Given the description of an element on the screen output the (x, y) to click on. 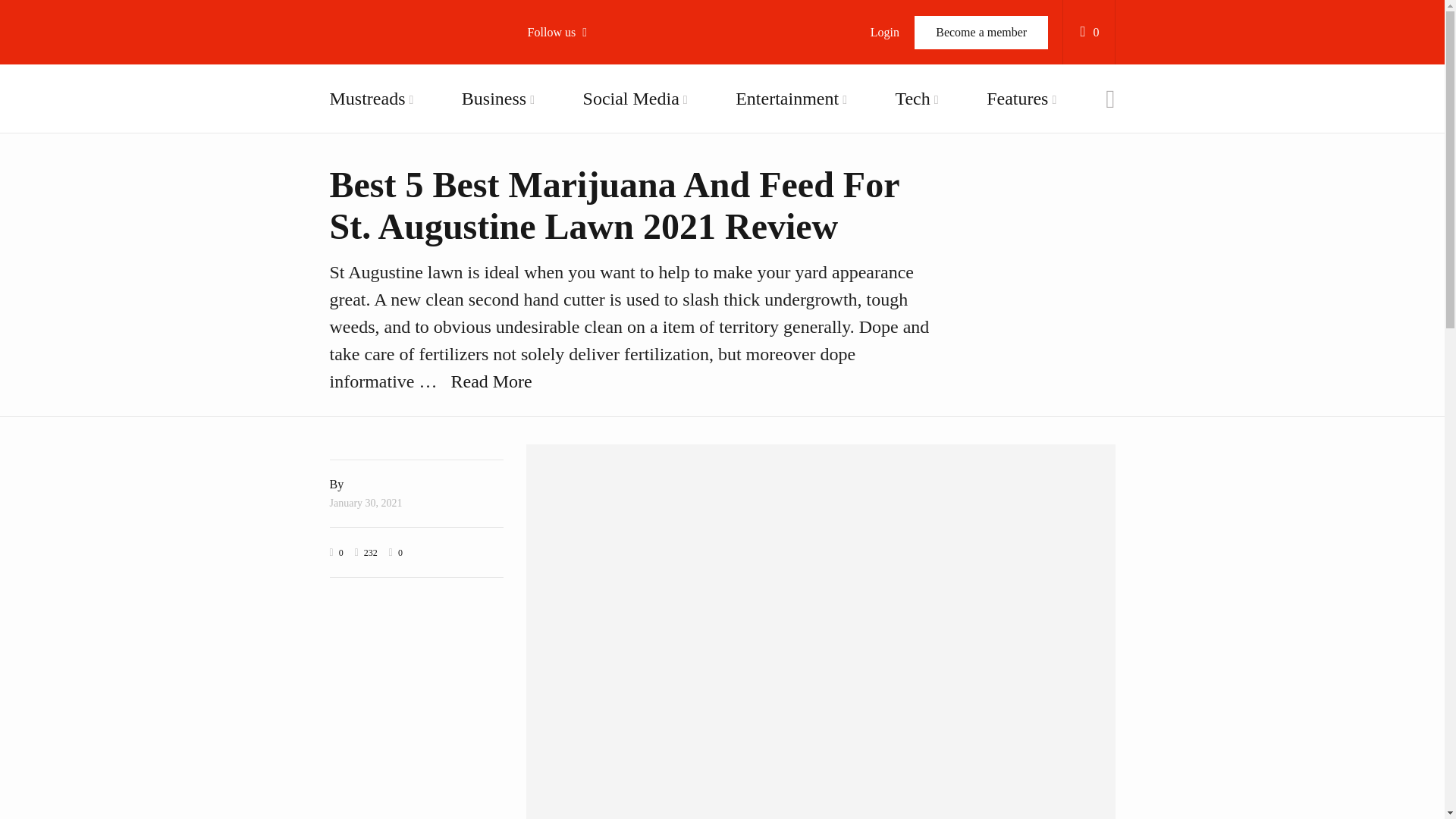
Login (885, 32)
Follow us on Linkedin (614, 276)
Follow us (564, 32)
Follow us on Vimeo (614, 199)
Follow us on Facebook (614, 83)
Follow us on Twitter (614, 121)
Follow us on Twitter (614, 121)
Follow us on YouTube (614, 160)
Follow us on Pinterest (614, 238)
Follow us on Linkedin (614, 276)
Follow us on Facebook (614, 83)
Follow us on YouTube (614, 160)
Follow us on Vimeo (614, 199)
Follow us on Pinterest (614, 238)
Become a member (981, 31)
